Given the description of an element on the screen output the (x, y) to click on. 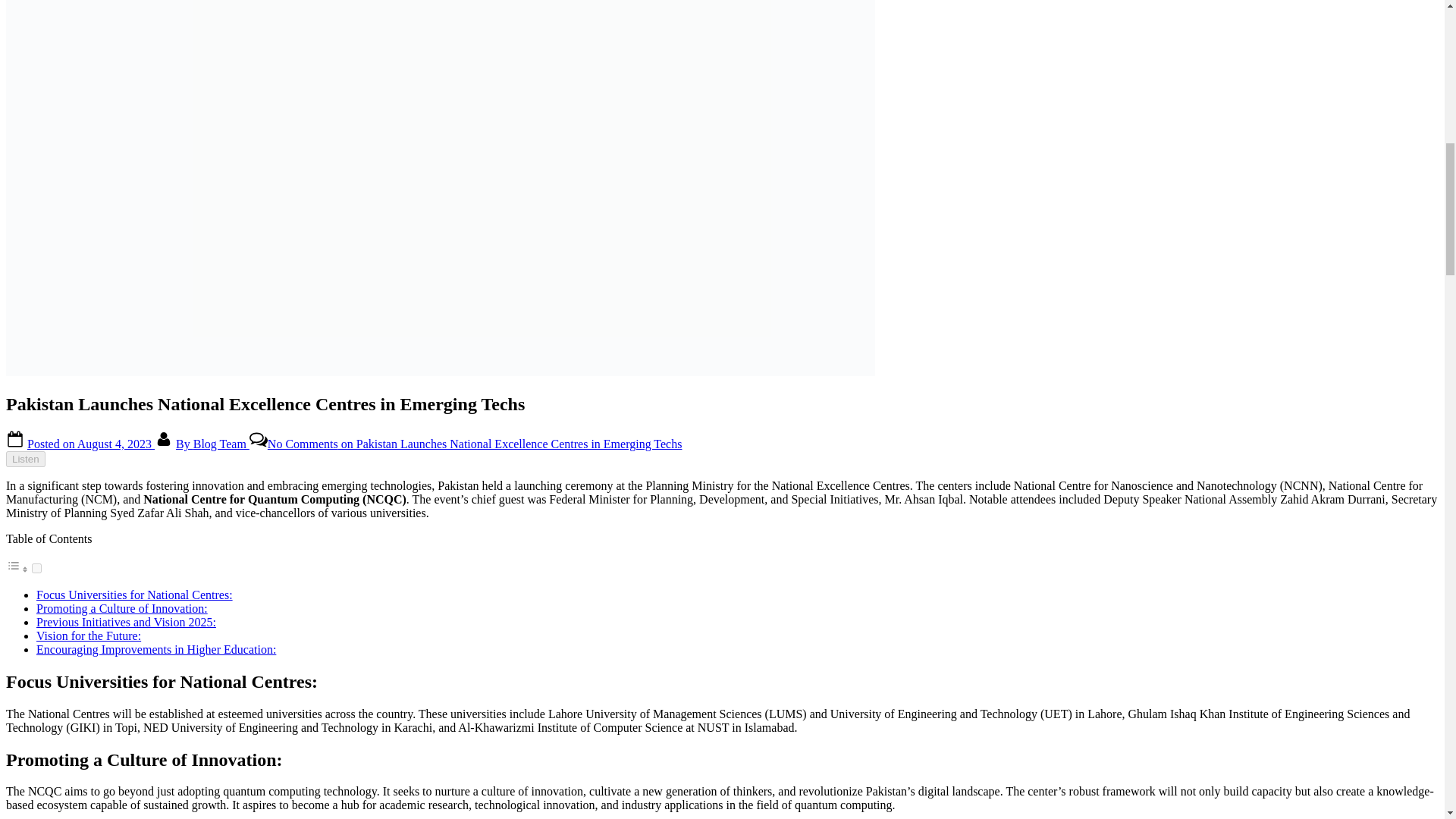
Listen (25, 458)
By Blog Team (212, 443)
Posted on August 4, 2023 (90, 443)
Previous Initiatives and Vision 2025: (125, 621)
Focus Universities for National Centres: (134, 594)
Focus Universities for National Centres: (134, 594)
on (37, 568)
Encouraging Improvements in Higher Education: (156, 649)
Promoting a Culture of Innovation: (122, 608)
